Given the description of an element on the screen output the (x, y) to click on. 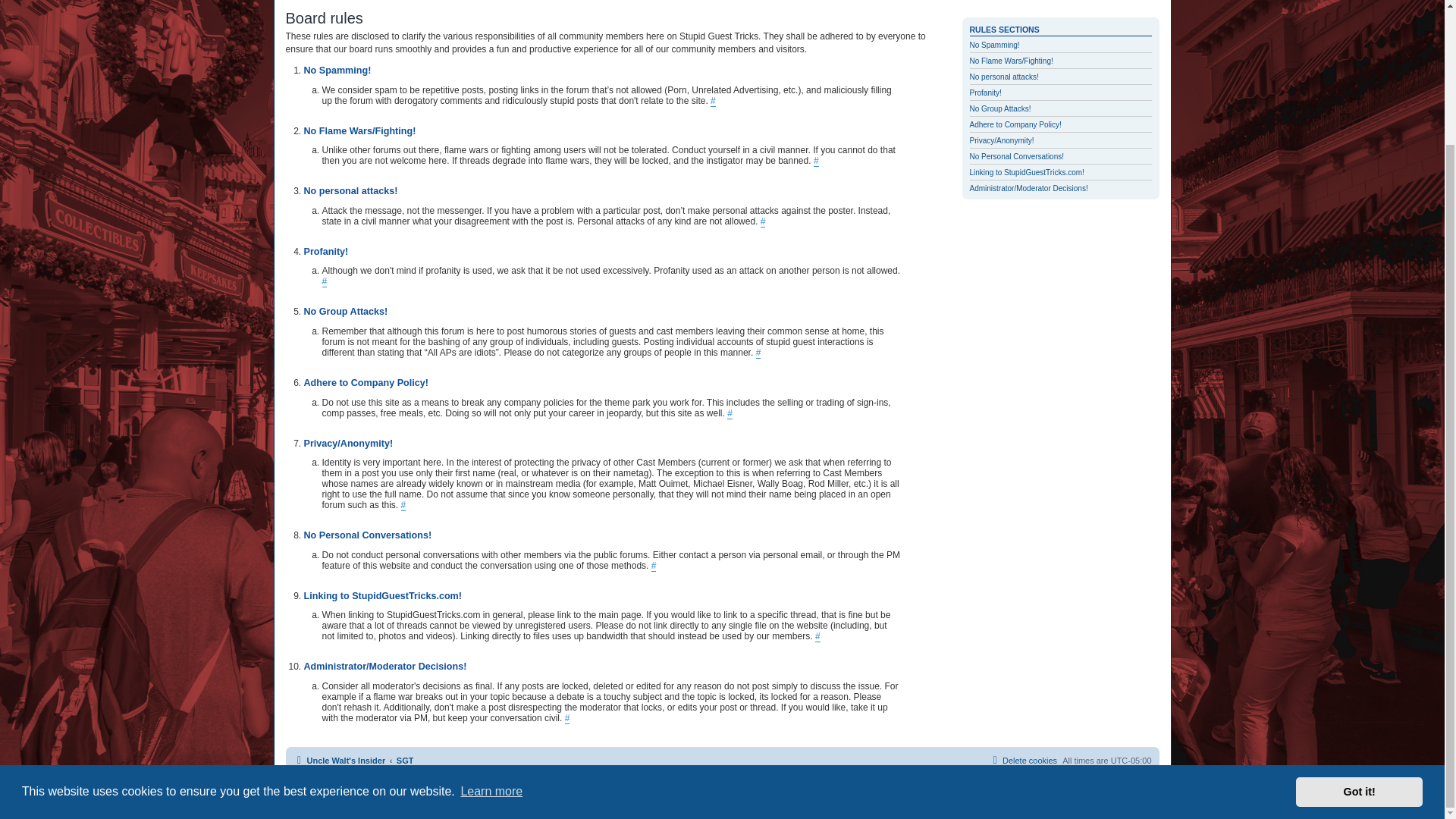
Learn more (491, 626)
SGT (404, 760)
Adhere to Company Policy! (1015, 124)
Uncle Walt's Insider (338, 760)
No Group Attacks! (999, 108)
No Spamming! (994, 44)
Linking to StupidGuestTricks.com! (1026, 172)
No personal attacks! (1003, 76)
No Personal Conversations! (1016, 156)
Got it! (1358, 625)
Profanity! (985, 92)
